Given the description of an element on the screen output the (x, y) to click on. 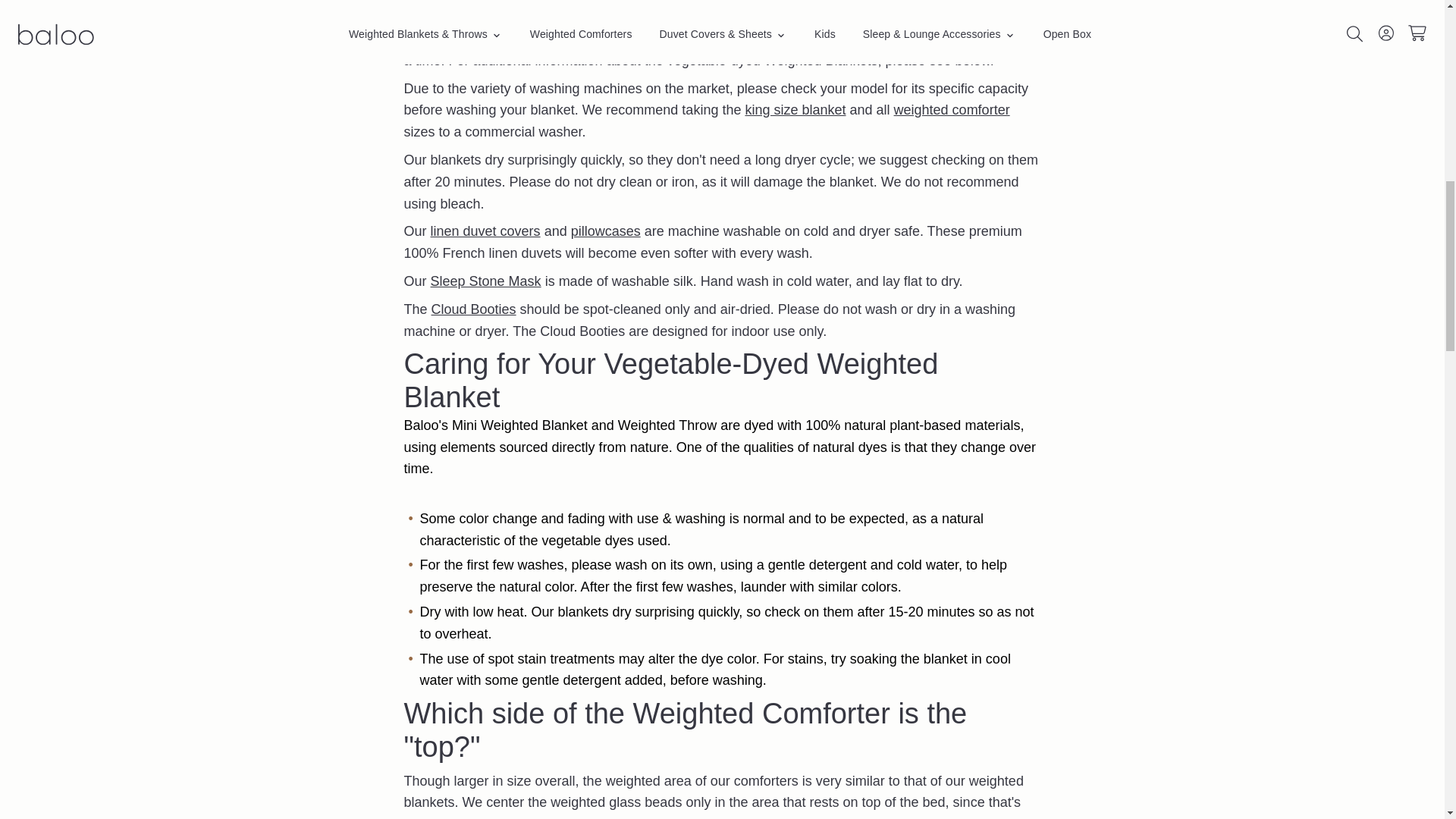
Cloud Bootie (473, 309)
